Given the description of an element on the screen output the (x, y) to click on. 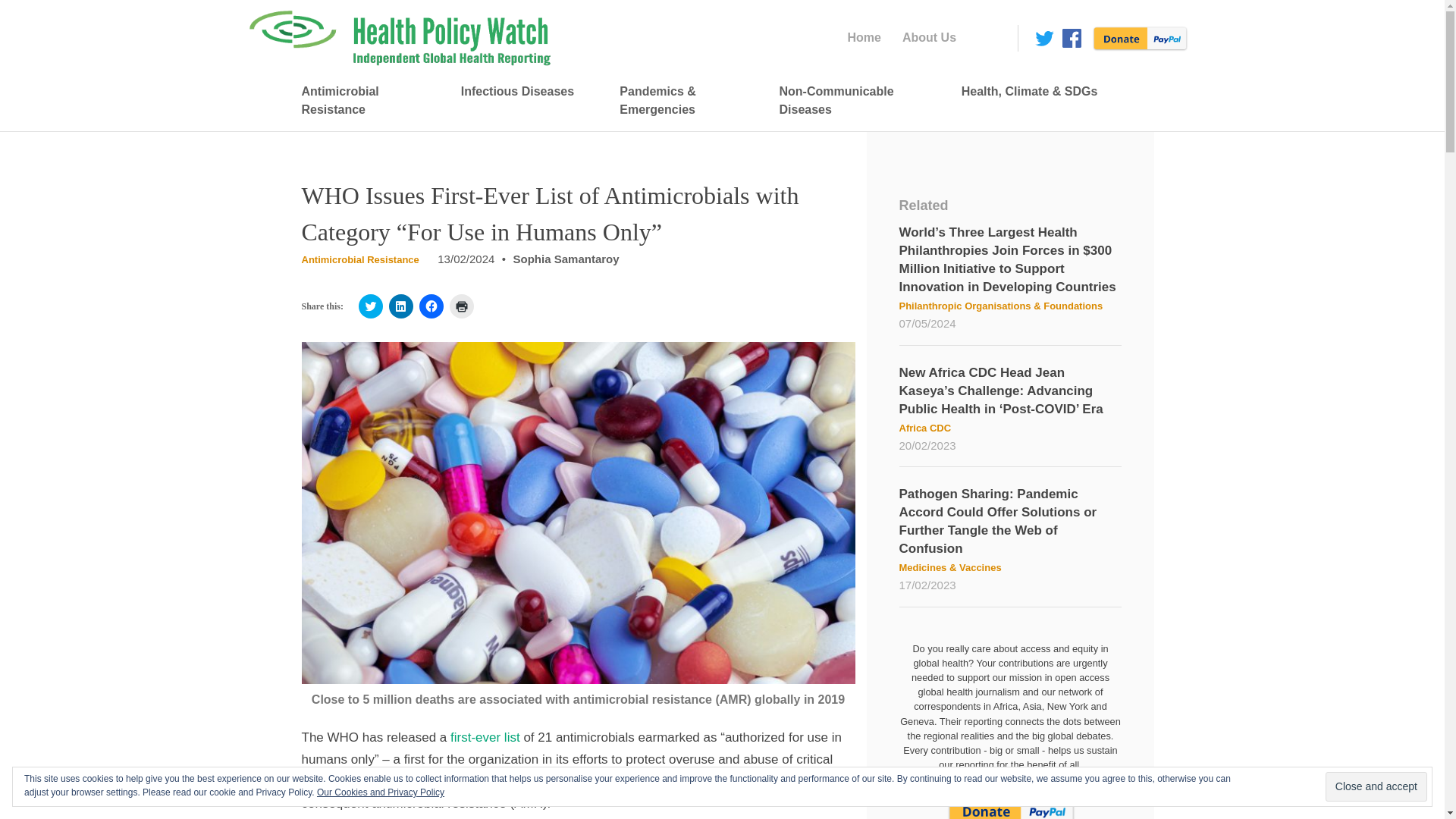
PayPal - The safer, easier way to pay online! (1136, 35)
first-ever list (484, 737)
Antimicrobial Resistance (360, 259)
Infectious Diseases (525, 91)
Click to share on Facebook (431, 306)
Sophia Samantaroy (566, 258)
Antimicrobial Resistance (365, 100)
Click to share on LinkedIn (400, 306)
Posts by Sophia Samantaroy (566, 258)
Non-Communicable Diseases (854, 100)
